Given the description of an element on the screen output the (x, y) to click on. 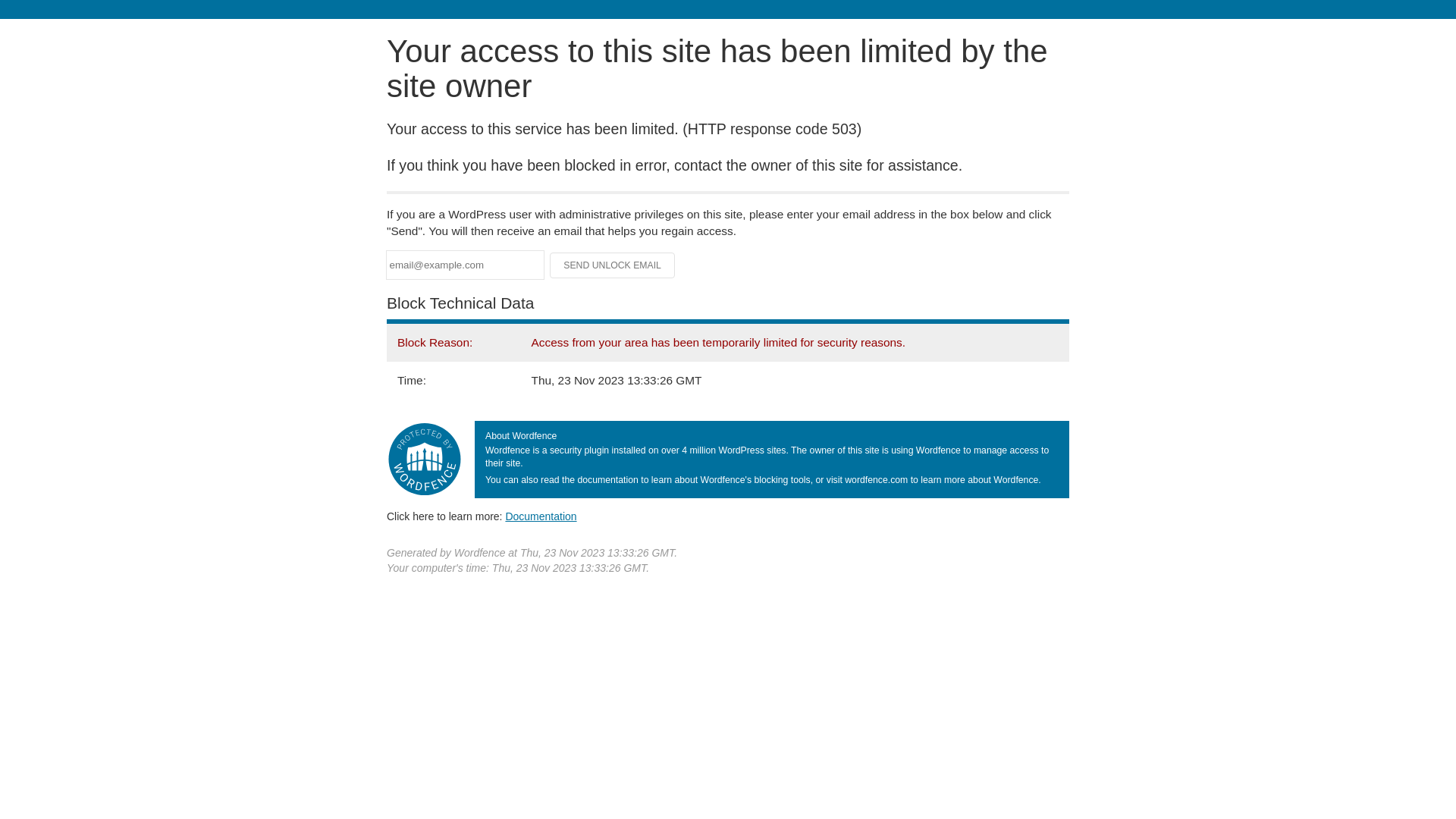
Send Unlock Email Element type: text (612, 265)
Documentation Element type: text (540, 516)
